Given the description of an element on the screen output the (x, y) to click on. 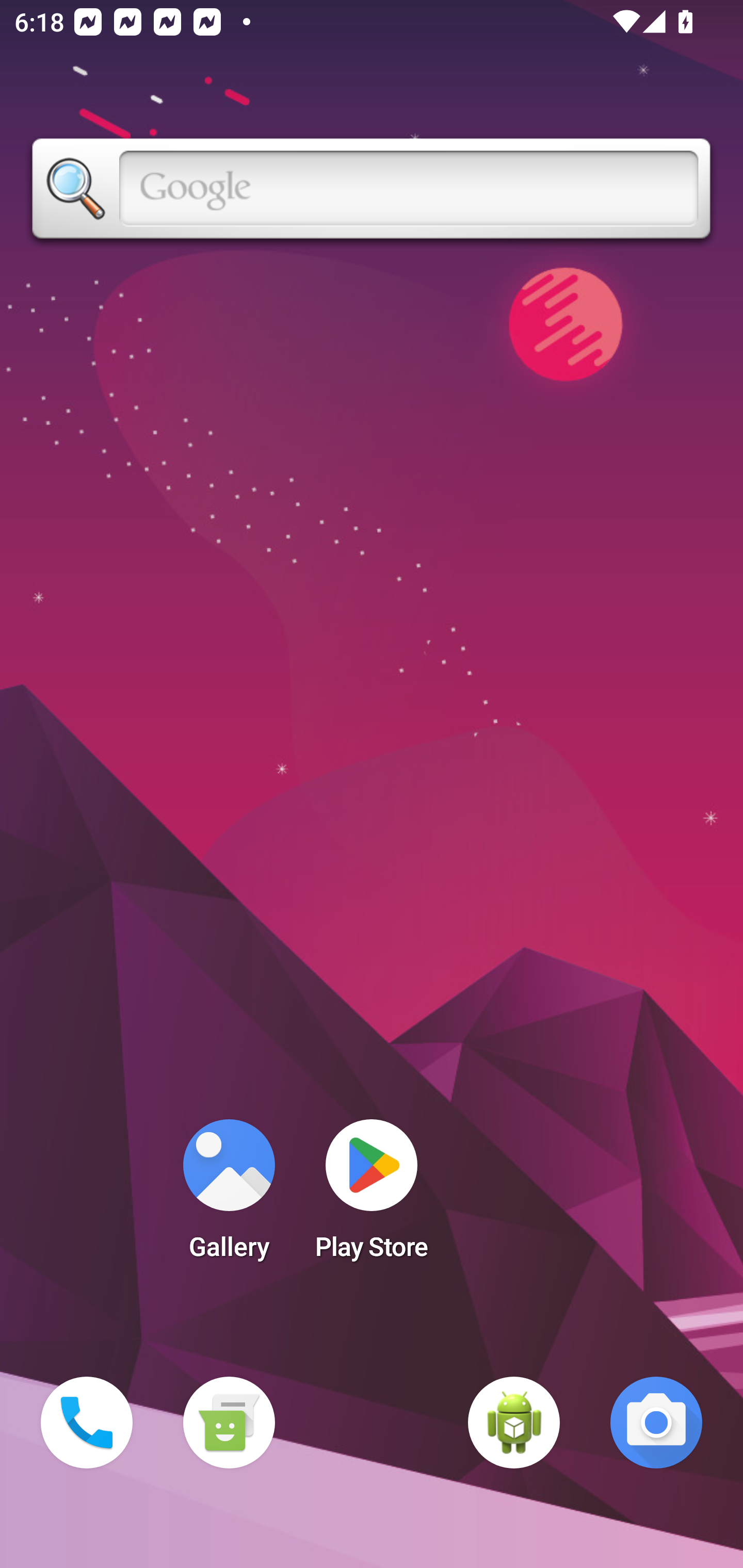
Gallery (228, 1195)
Play Store (371, 1195)
Phone (86, 1422)
Messaging (228, 1422)
WebView Browser Tester (513, 1422)
Camera (656, 1422)
